Given the description of an element on the screen output the (x, y) to click on. 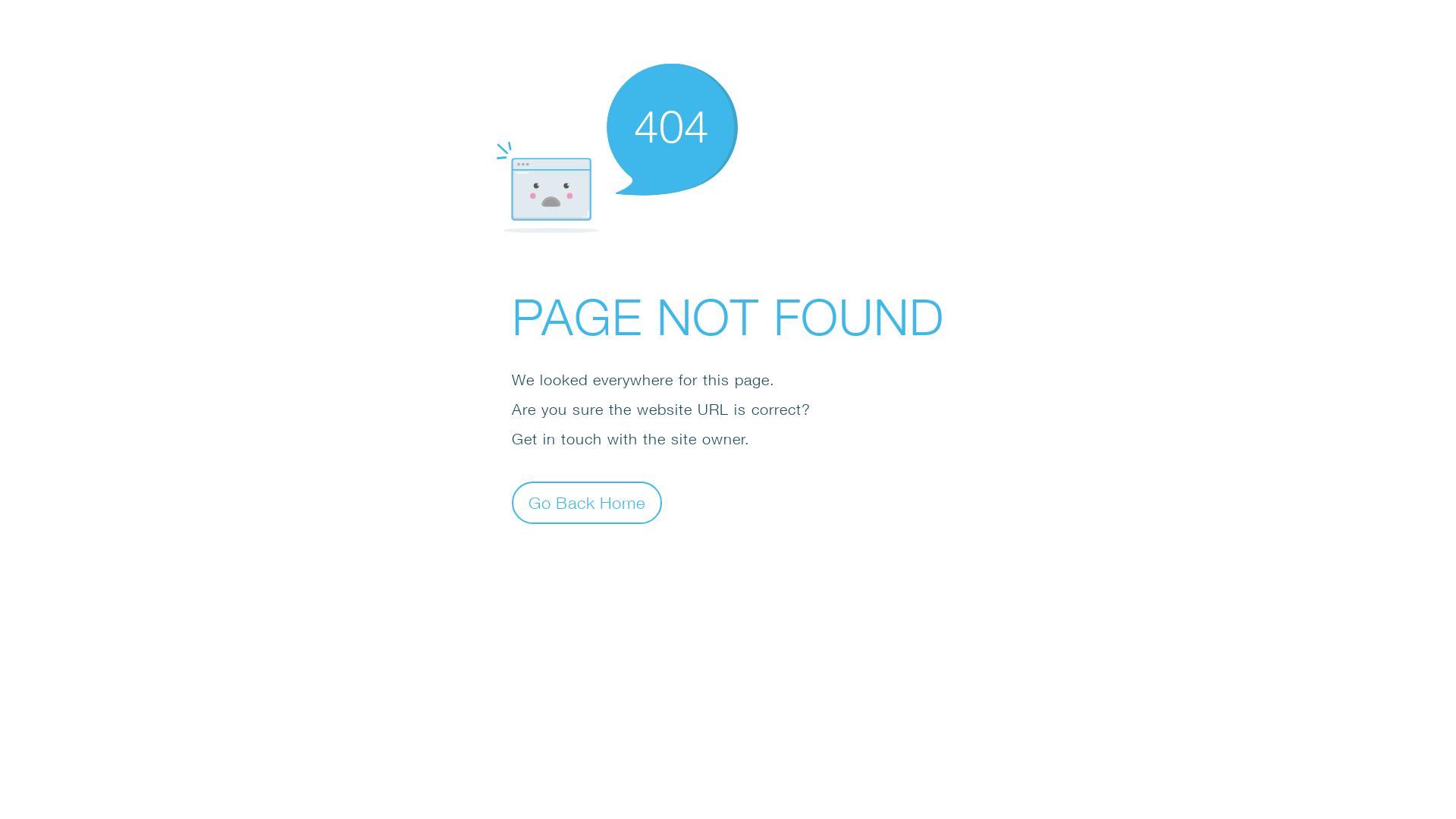
Go Back Home Element type: text (586, 502)
